Given the description of an element on the screen output the (x, y) to click on. 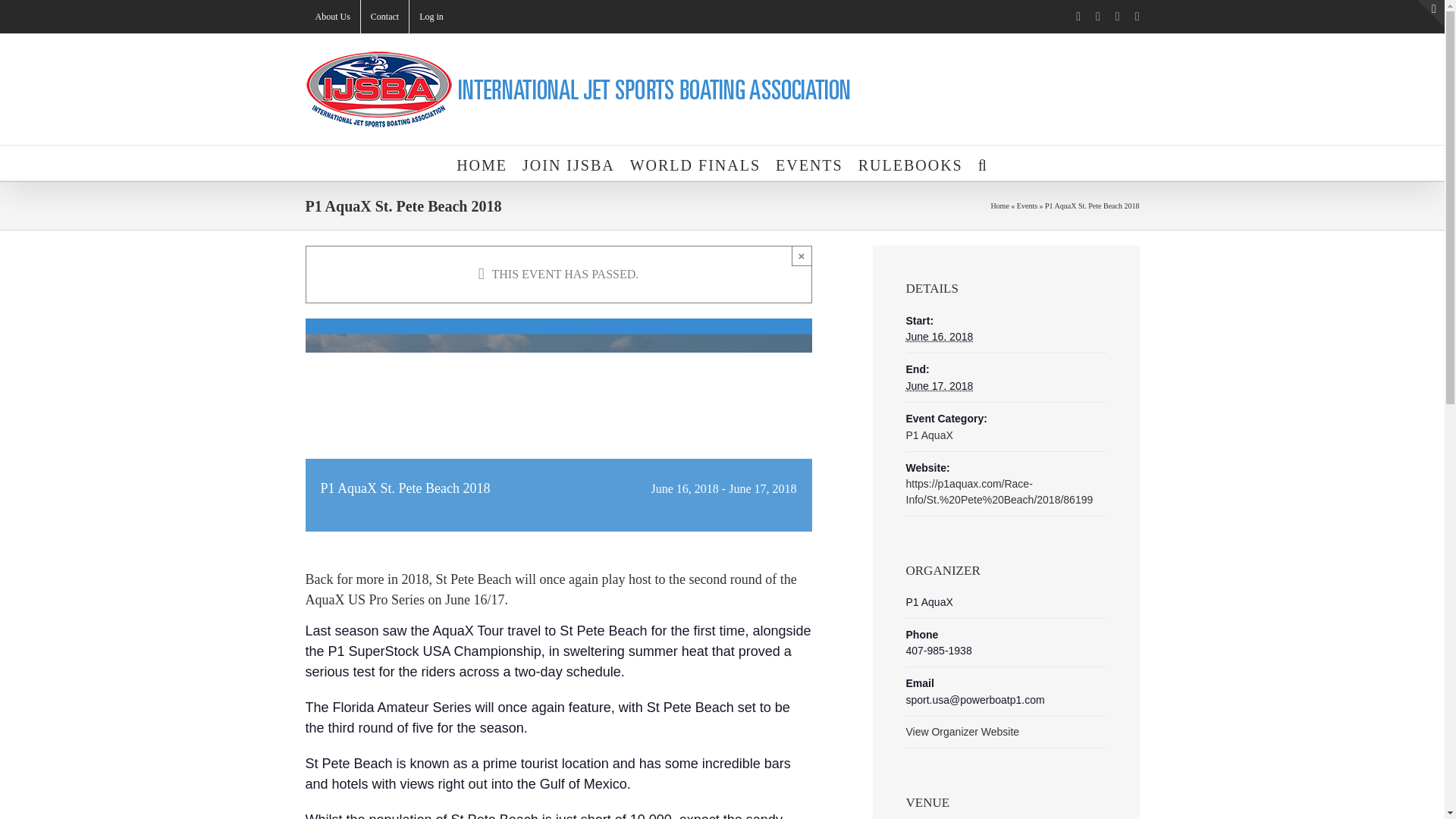
Contact (385, 16)
YouTube (1117, 16)
Facebook (1077, 16)
Twitter (1098, 16)
Instagram (1137, 16)
Home (999, 205)
WORLD FINALS (695, 162)
Events (1026, 205)
EVENTS (809, 162)
YouTube (1117, 16)
Instagram (1137, 16)
Log in (430, 16)
Search (983, 162)
HOME (481, 162)
Facebook (1077, 16)
